Given the description of an element on the screen output the (x, y) to click on. 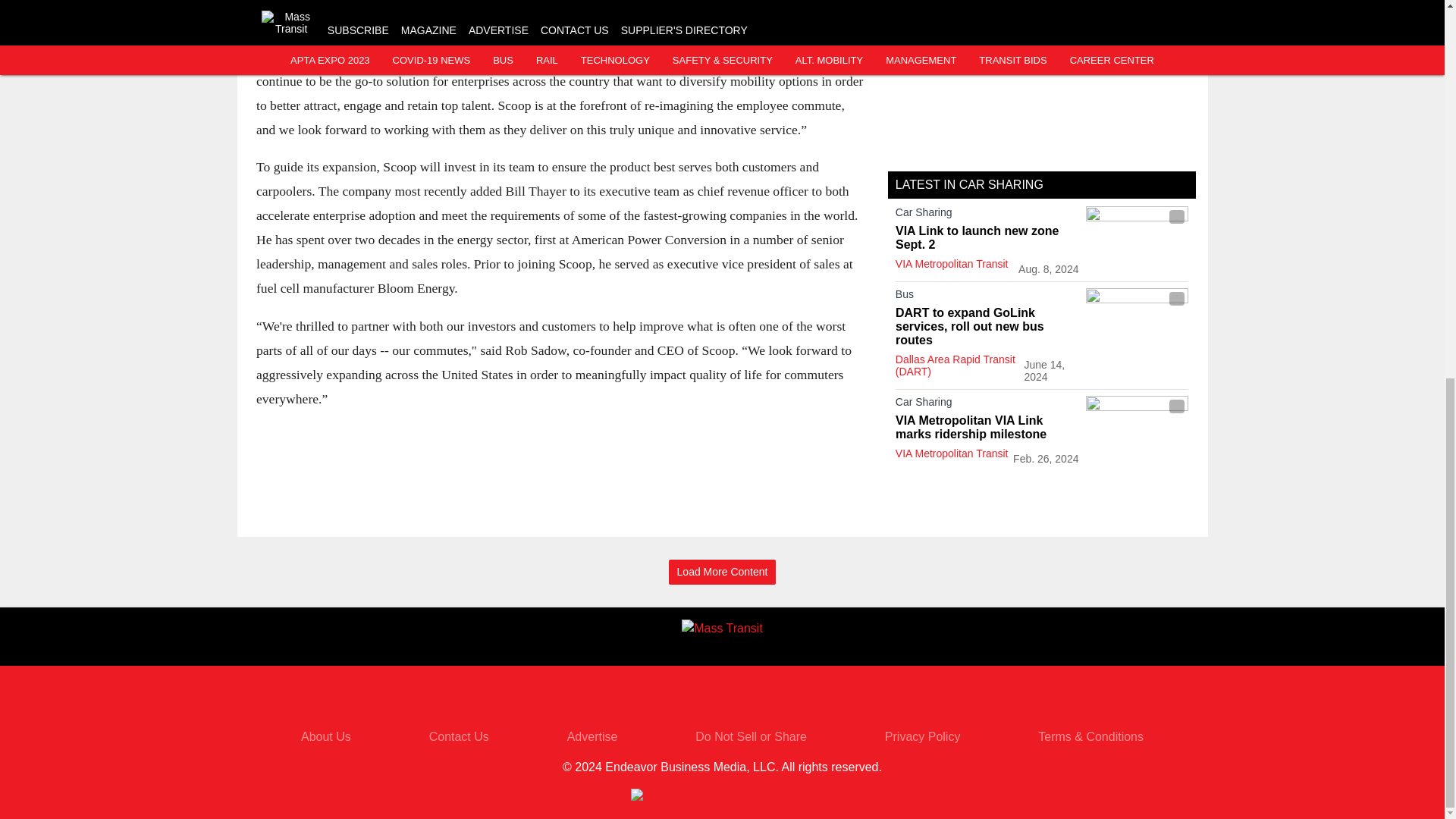
Load More Content (722, 571)
Car Sharing (986, 215)
VIA Metropolitan Transit (952, 263)
Car Sharing (986, 404)
VIA Link to launch new zone Sept. 2 (986, 237)
VIA Metropolitan VIA Link marks ridership milestone (986, 427)
DART to expand GoLink services, roll out new bus routes (986, 326)
LATEST IN CAR SHARING (969, 184)
Bus (986, 297)
VIA Metropolitan Transit (952, 453)
